Given the description of an element on the screen output the (x, y) to click on. 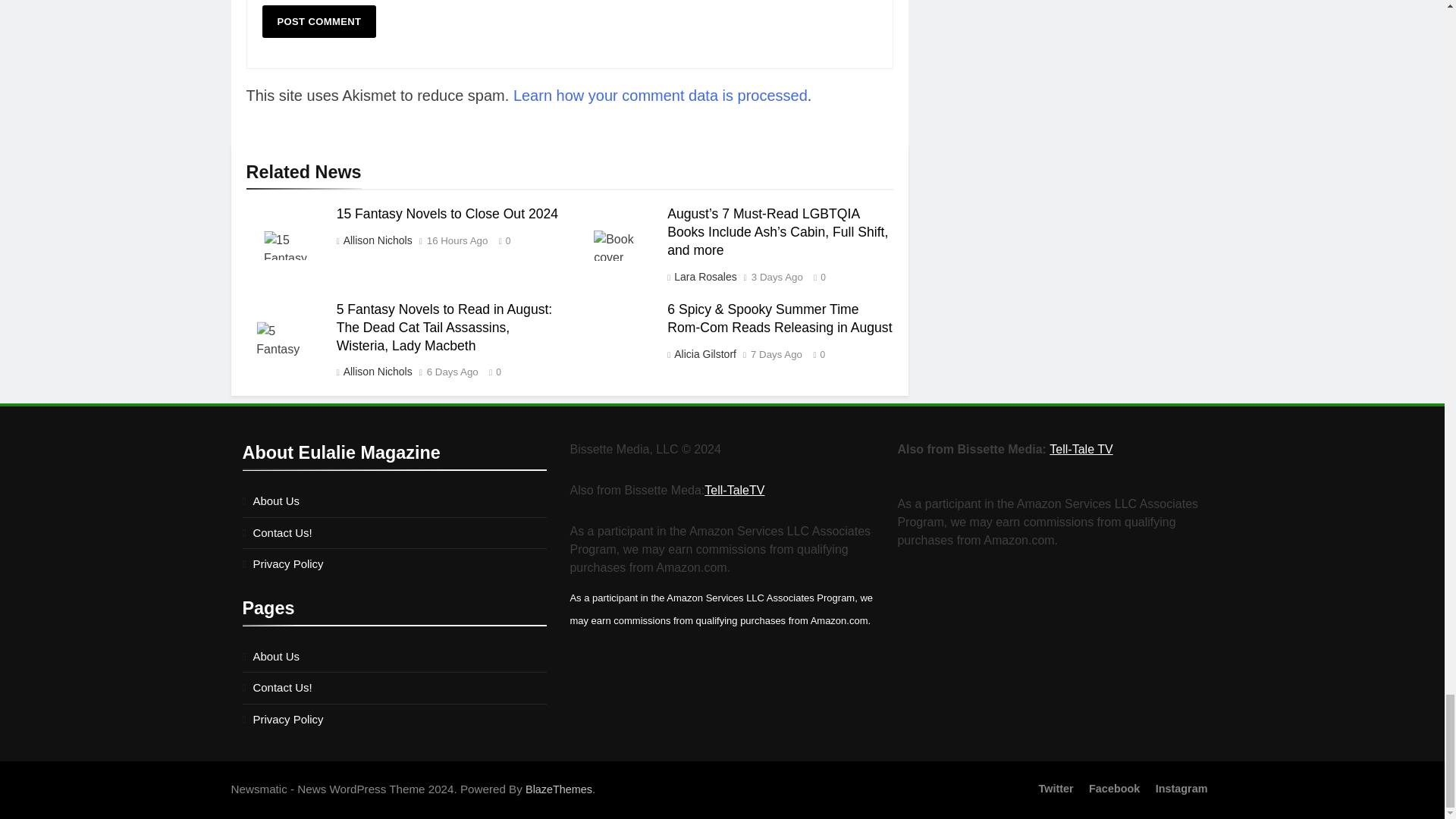
Post Comment (319, 20)
